Given the description of an element on the screen output the (x, y) to click on. 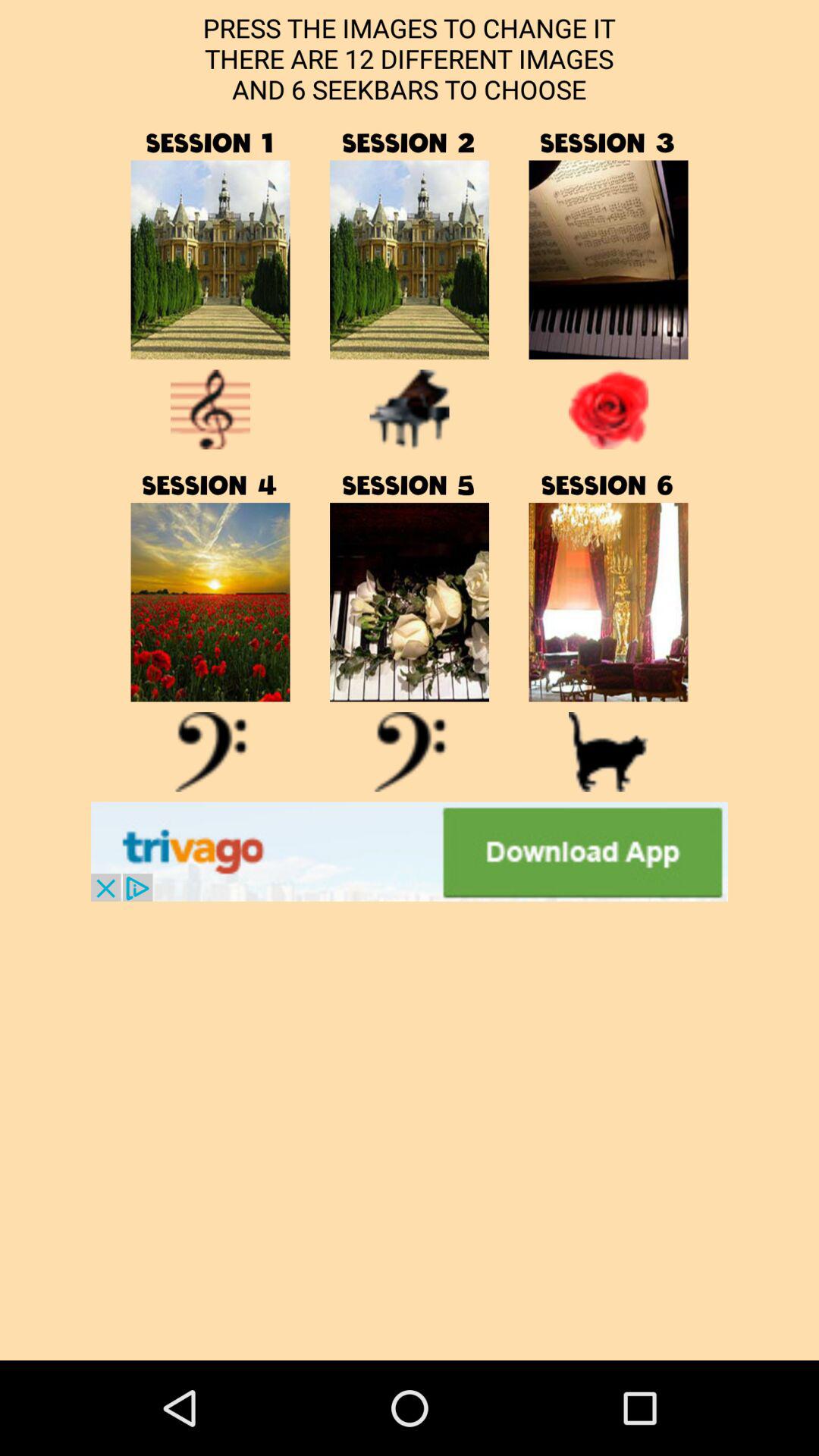
change session 1 image (210, 259)
